Given the description of an element on the screen output the (x, y) to click on. 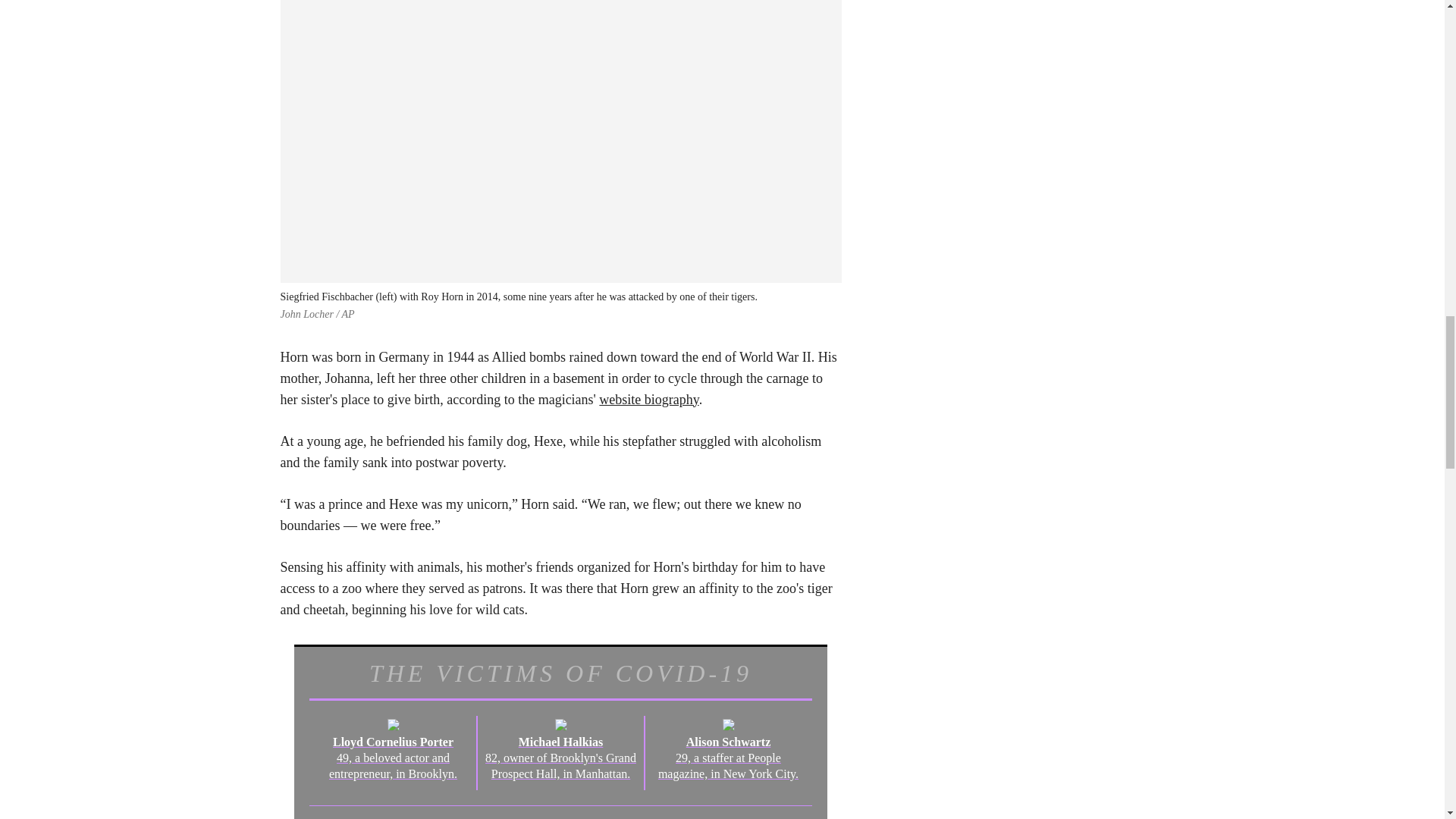
website biography (648, 399)
